Given the description of an element on the screen output the (x, y) to click on. 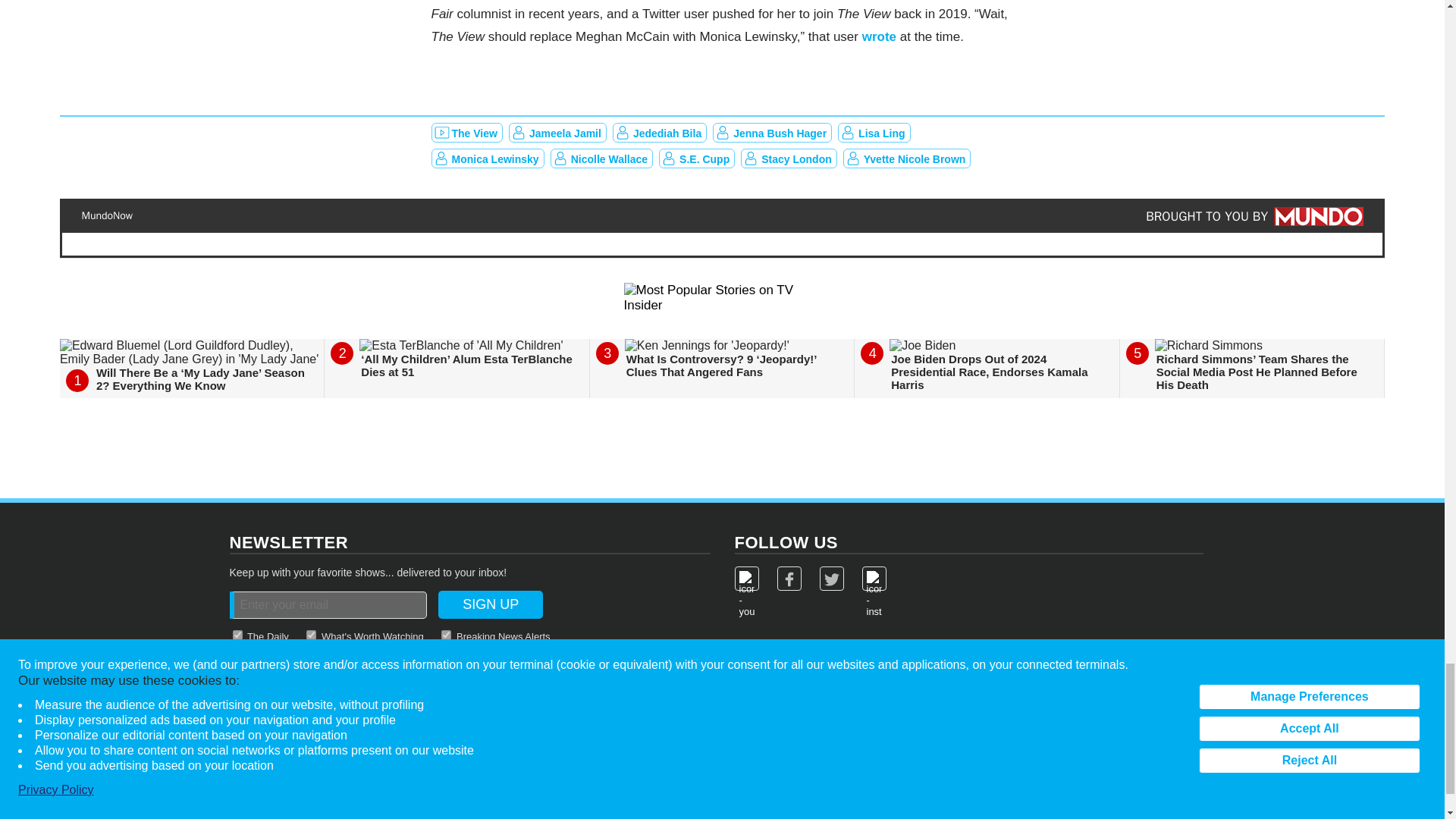
1 (310, 634)
SIGN UP (490, 604)
4 (446, 634)
2 (236, 634)
